Given the description of an element on the screen output the (x, y) to click on. 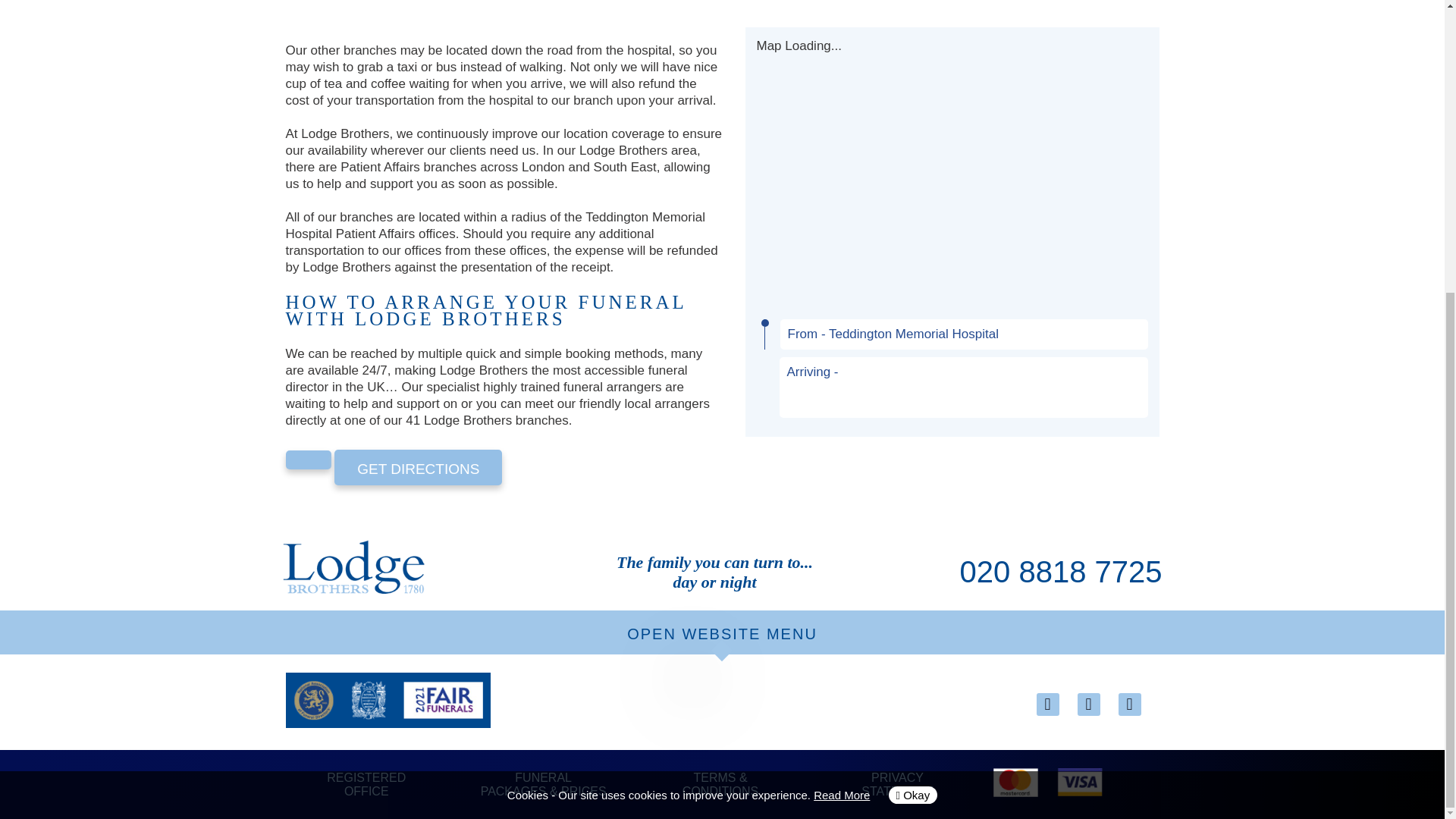
Lodge Brothers (353, 568)
020 8818 7725 (1060, 571)
Lodge Brothers Logos (387, 700)
Lodge Brothers Facebook (1129, 703)
Read More (841, 348)
GET DIRECTIONS (418, 467)
Lodge Brothers Email (1046, 703)
Lodge Brothers Logos (1015, 782)
Lodge Brothers Logos (1079, 781)
Lodge Brothers LinkedIn (1088, 703)
